Given the description of an element on the screen output the (x, y) to click on. 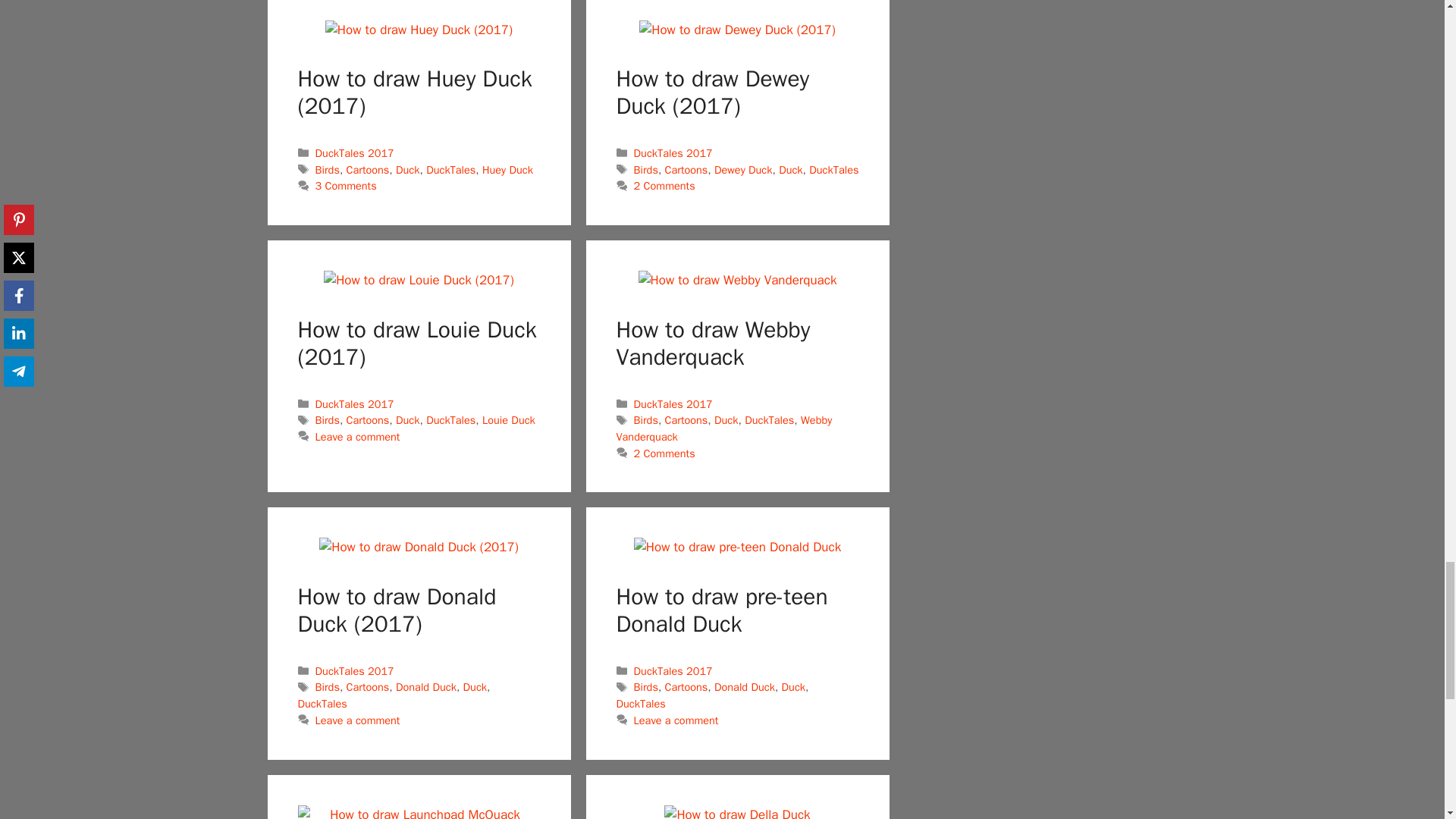
How to draw Della Duck (736, 812)
How to draw Webby Vanderquack (738, 280)
How to draw pre-teen Donald Duck (737, 547)
